Given the description of an element on the screen output the (x, y) to click on. 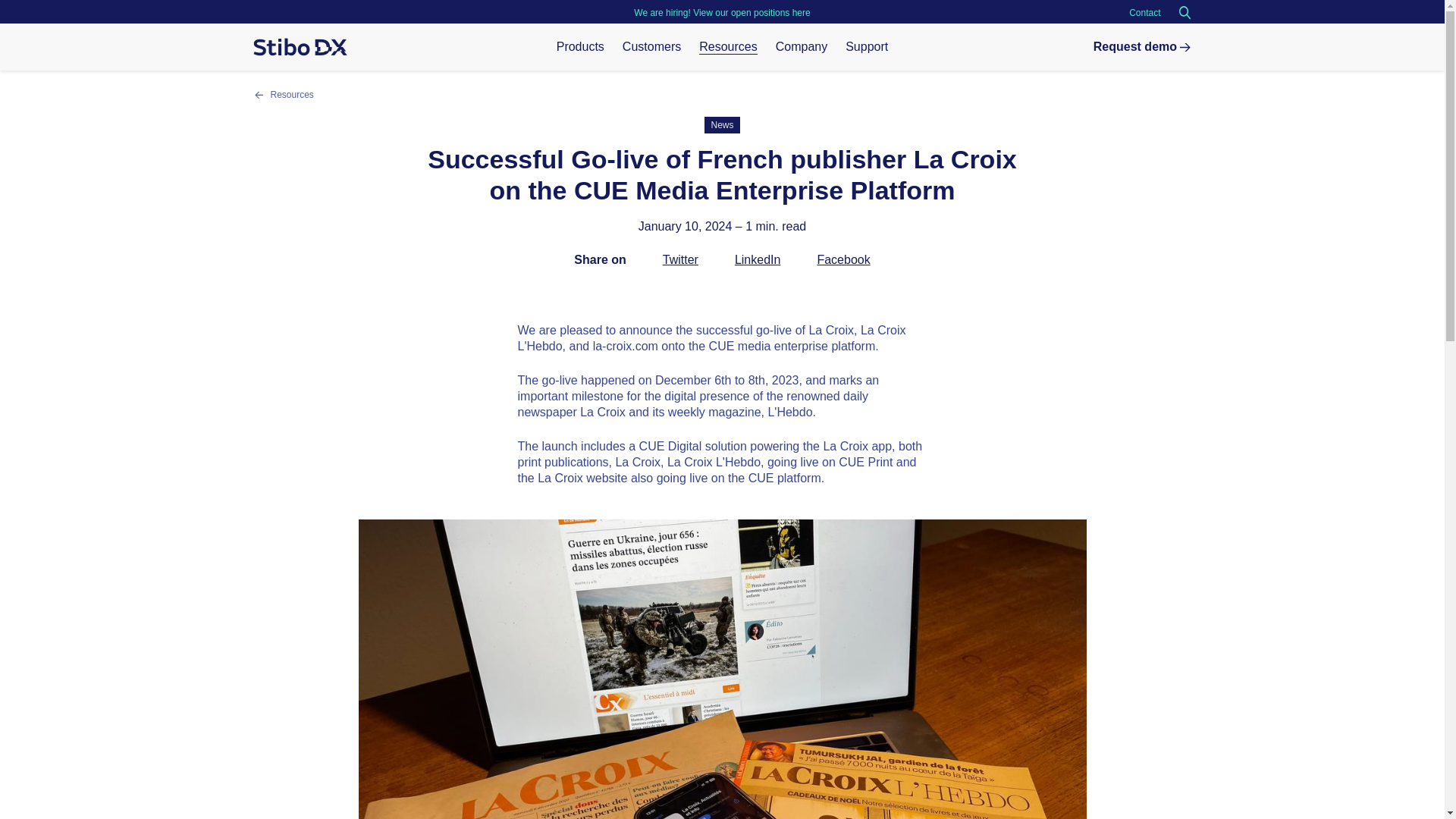
Support (866, 46)
We are hiring! View our open positions here (721, 12)
Contact (1144, 12)
How can we help you? (866, 46)
Company (801, 46)
StiboDX (300, 46)
Resources (727, 46)
Customers (652, 46)
Products (580, 46)
Request demo (1142, 46)
LinkedIn (757, 259)
Twitter (680, 259)
Resources (291, 94)
Company (801, 46)
Resources (727, 46)
